Given the description of an element on the screen output the (x, y) to click on. 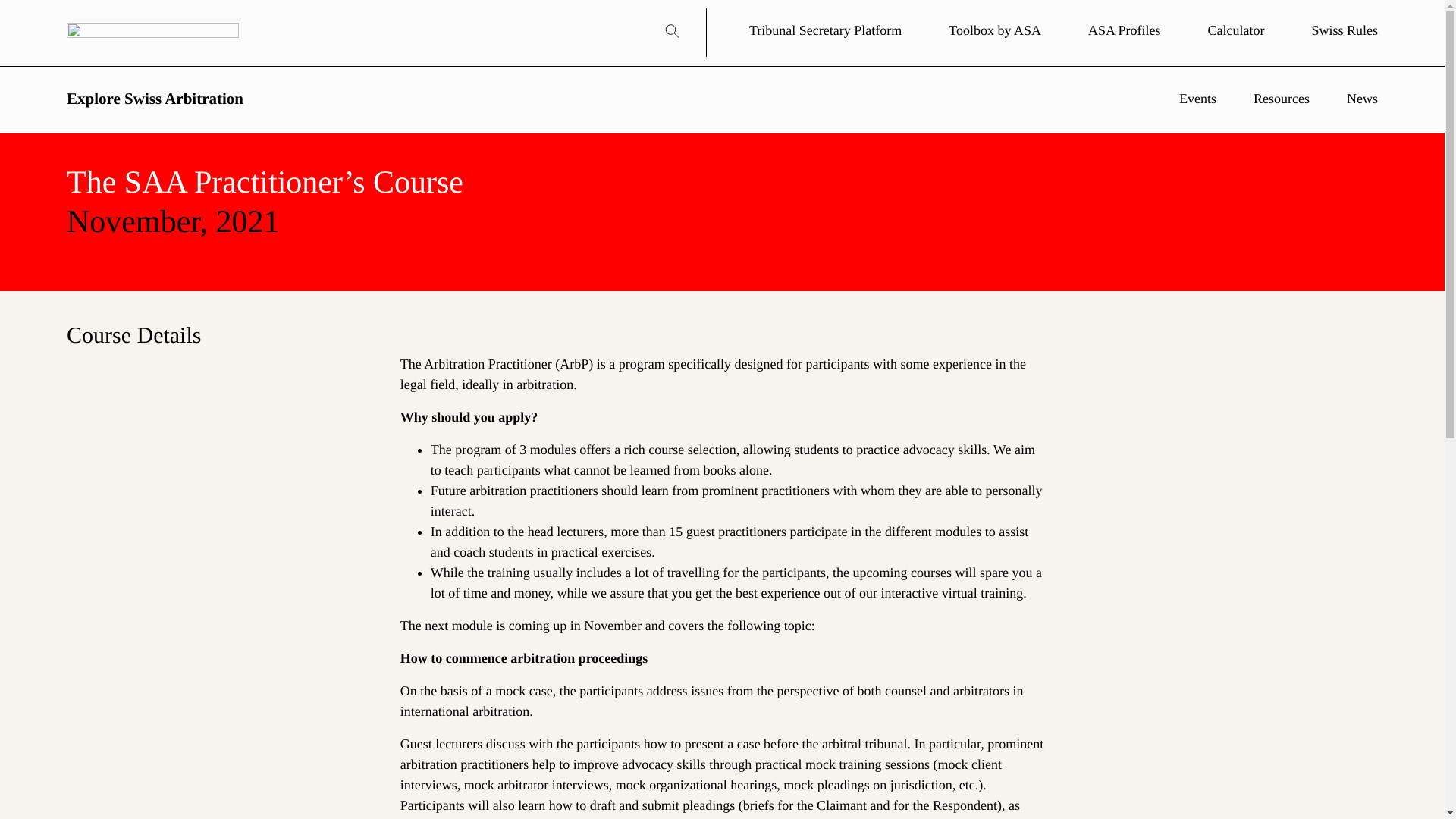
Resources (1266, 98)
Calculator (1211, 30)
ASA Profiles (1100, 30)
Events (1182, 98)
News (1345, 98)
Tribunal Secretary Platform (801, 30)
Toolbox by ASA (971, 30)
Swiss Rules (1320, 30)
